Given the description of an element on the screen output the (x, y) to click on. 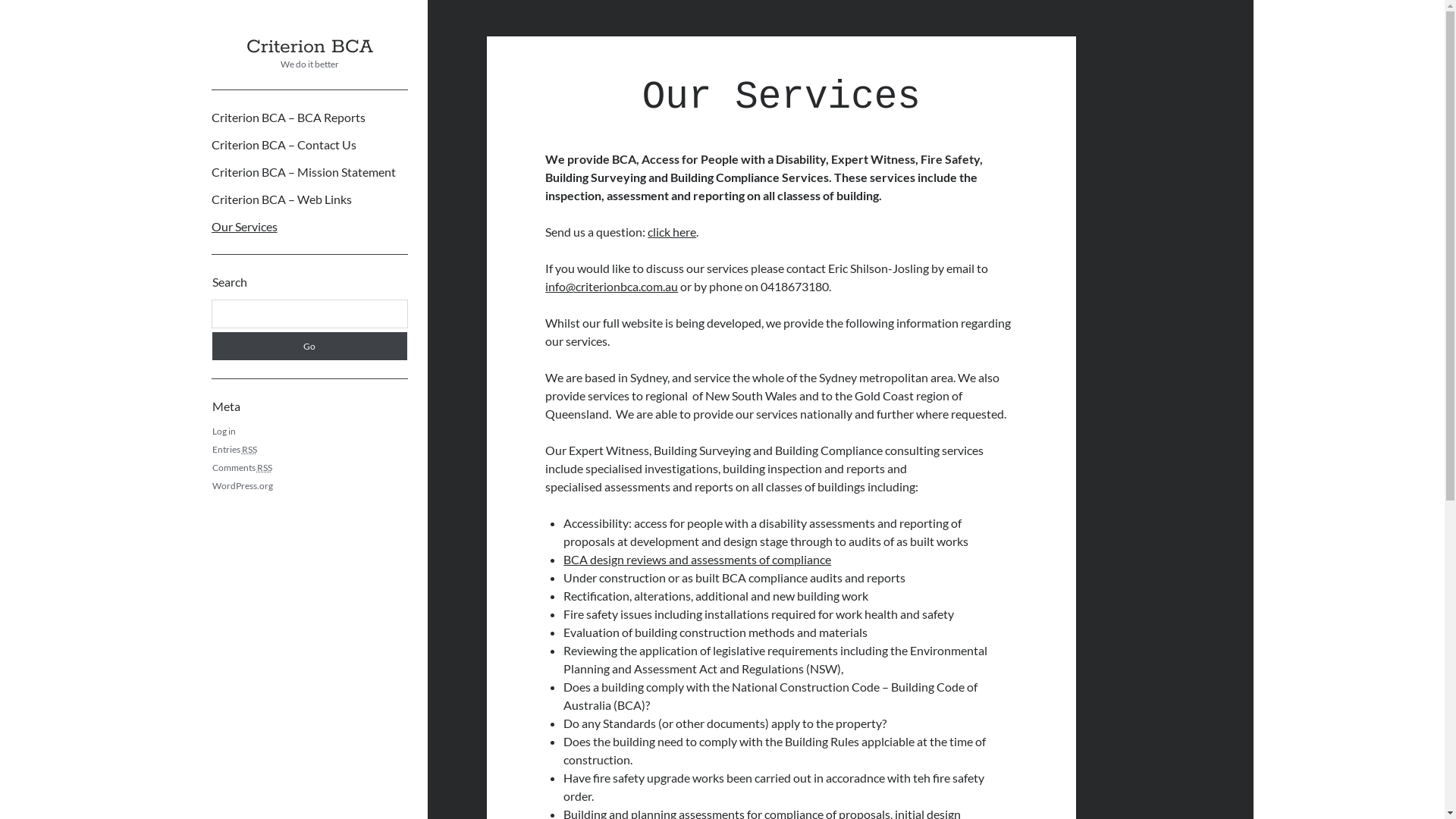
info@criterionbca.com.au Element type: text (611, 286)
Go Element type: text (309, 346)
Criterion BCA Element type: text (308, 46)
Entries RSS Element type: text (234, 449)
WordPress.org Element type: text (242, 485)
Search for: Element type: hover (309, 313)
BCA design reviews and assessments of compliance Element type: text (697, 559)
click here Element type: text (671, 231)
Comments RSS Element type: text (242, 467)
Our Services Element type: text (243, 226)
Log in Element type: text (223, 430)
